Given the description of an element on the screen output the (x, y) to click on. 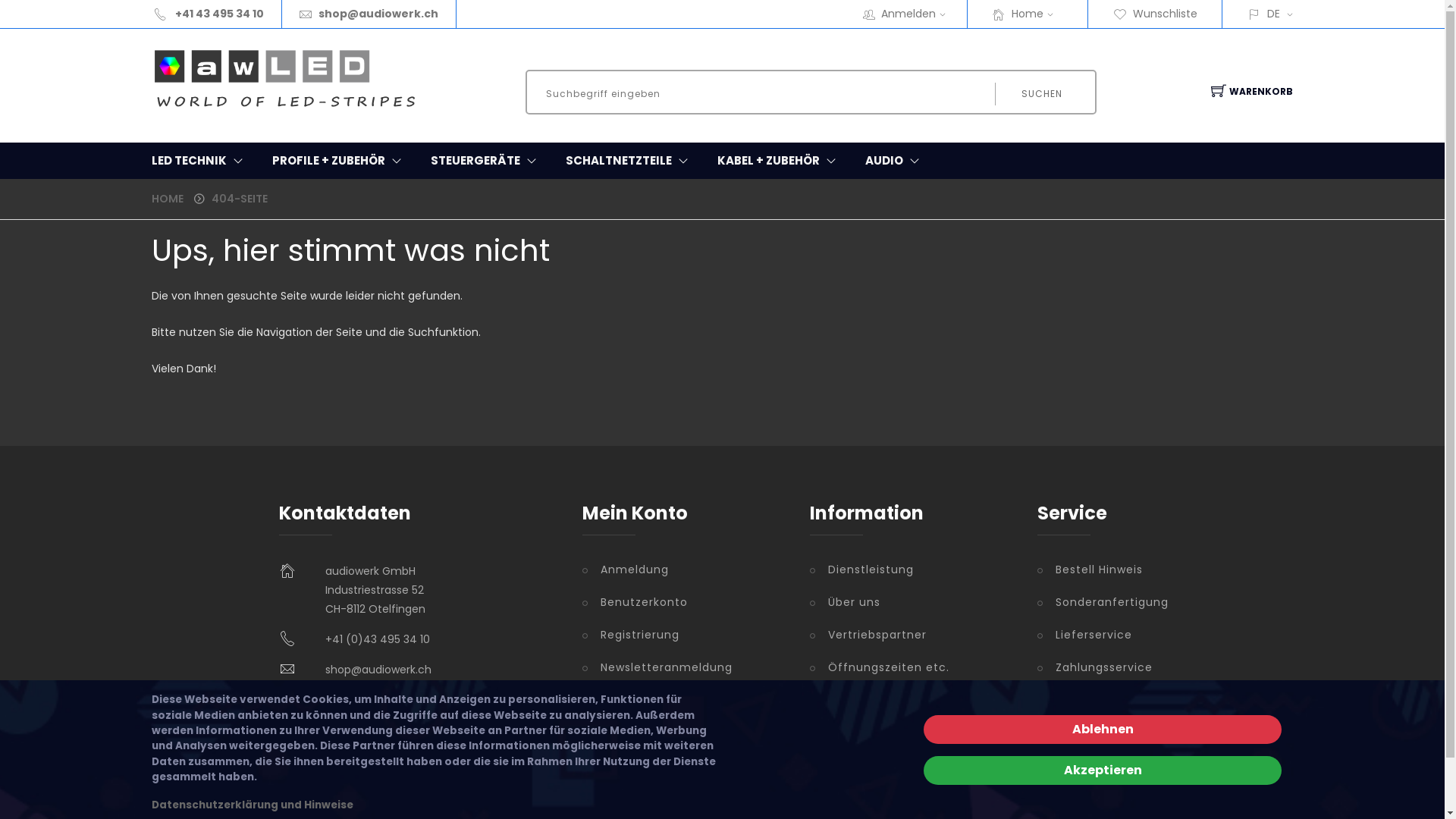
Kennwort vergessen Element type: text (684, 732)
Newsletteranmeldung Element type: text (684, 667)
Zahlungsservice Element type: text (1101, 667)
Wunschliste Element type: text (1155, 13)
WARENKORB Element type: text (1245, 91)
Anmeldung Element type: text (684, 569)
Lieferservice Element type: text (1101, 635)
Registrierung Element type: text (684, 635)
Dienstleistung Element type: text (911, 569)
Kontakt Element type: text (1101, 748)
LED TECHNIK Element type: text (200, 160)
Ablehnen Element type: text (1102, 729)
shop@audiowerk.ch Element type: text (378, 669)
Anmelden Element type: text (958, 361)
Vertriebspartner Element type: text (911, 635)
DE Element type: text (1274, 13)
Newsletter abbestellen Element type: text (684, 700)
Support & Download Element type: text (1101, 708)
Sonderanfertigung Element type: text (1101, 602)
Akzeptieren Element type: text (1102, 770)
Rechtliche Hinweise Element type: text (911, 700)
Benutzerkonto Element type: text (684, 602)
Bestell Hinweis Element type: text (1101, 569)
HOME Element type: text (167, 198)
Anmelden Element type: text (918, 13)
shop@audiowerk.ch Element type: text (378, 13)
SUCHEN Element type: text (1040, 93)
404-SEITE Element type: text (239, 198)
AUDIO Element type: text (895, 160)
Home Element type: text (1037, 13)
SCHALTNETZTEILE Element type: text (629, 160)
